Given the description of an element on the screen output the (x, y) to click on. 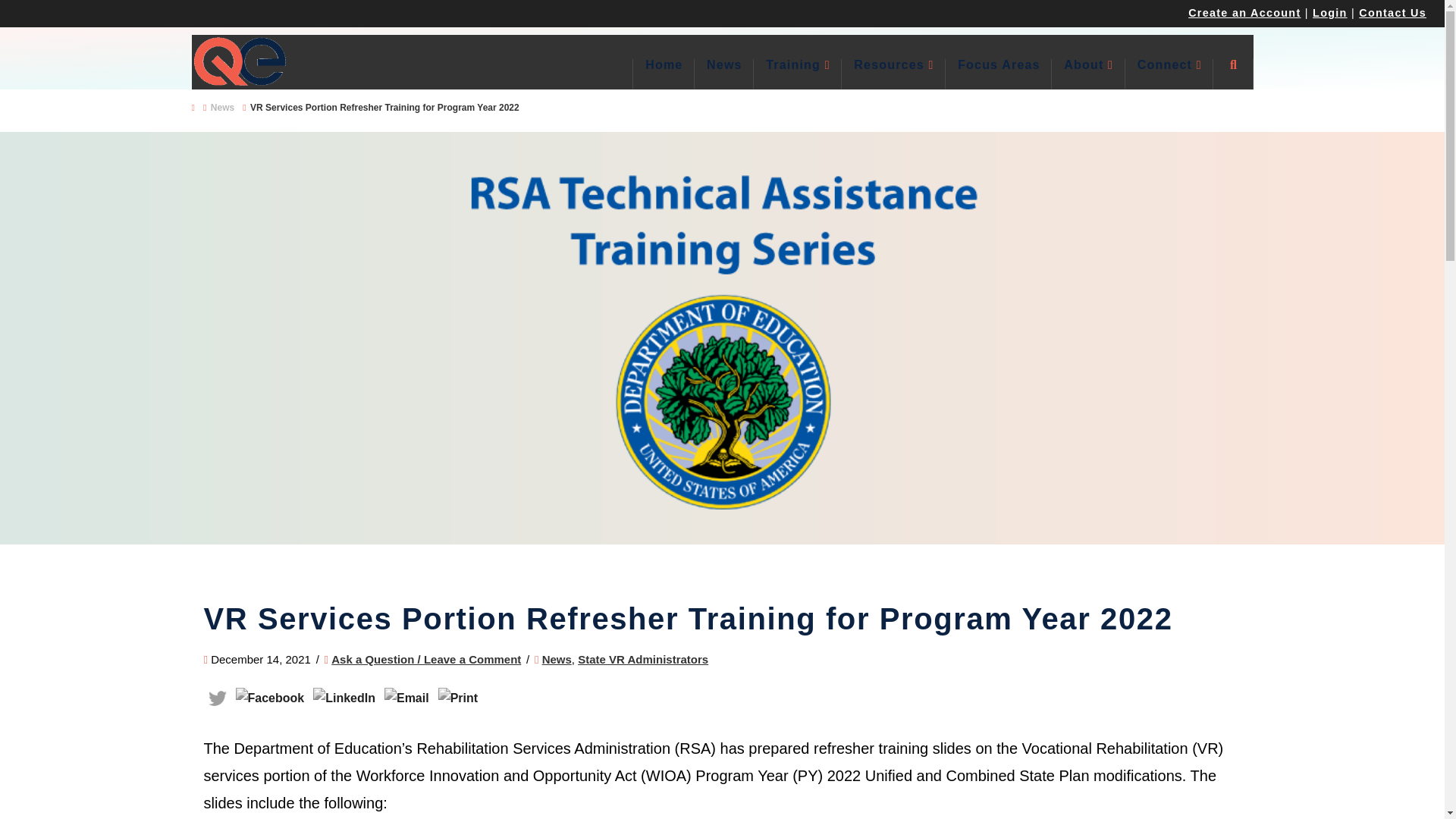
Contact Us (1392, 12)
Create an Account (1244, 12)
Connect (1169, 73)
Login (1330, 12)
Focus Areas (997, 73)
You Are Here (384, 107)
Resources (892, 73)
Home (662, 73)
Training (797, 73)
About (1087, 73)
